Given the description of an element on the screen output the (x, y) to click on. 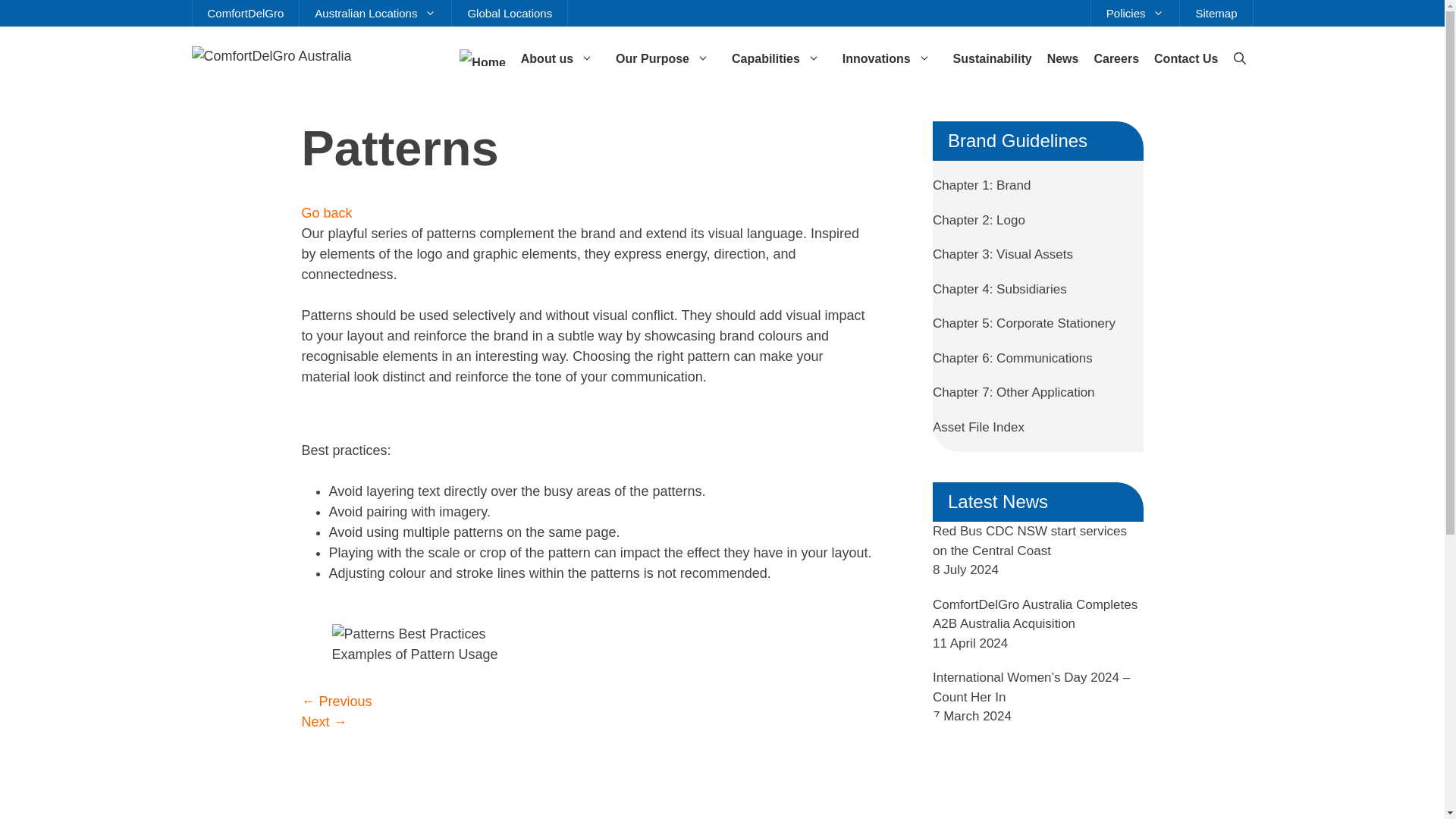
Capabilities (778, 58)
About us (560, 58)
Sitemap (1215, 13)
Charts and Graphs (324, 721)
ComfortDelGro (245, 13)
Our Purpose (665, 58)
Patterns Best Practices (408, 633)
Policies (1134, 13)
ComfortDelGro Australia (270, 55)
ComfortDelGro Australia (270, 55)
